Given the description of an element on the screen output the (x, y) to click on. 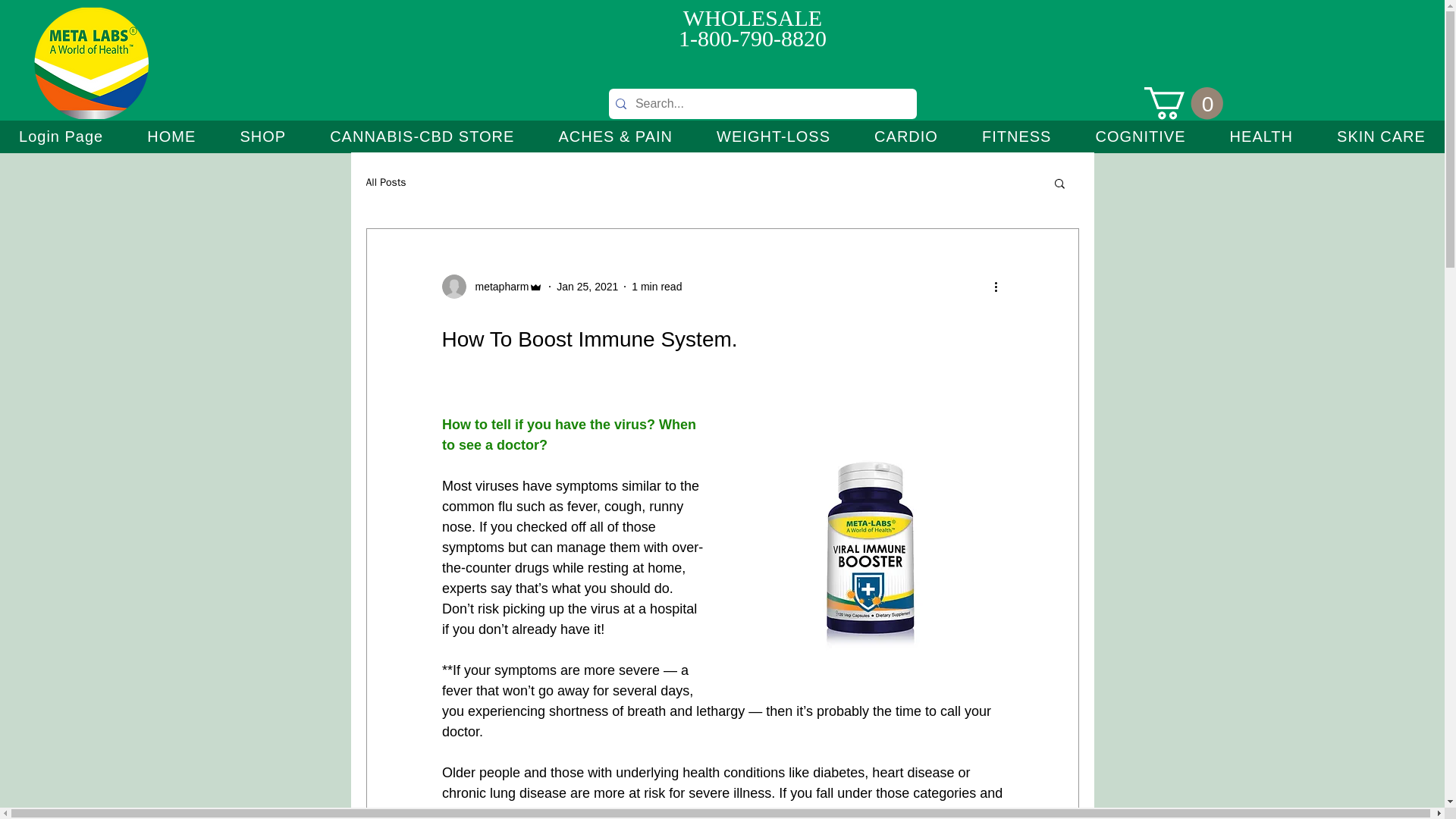
COGNITIVE (1139, 136)
WEIGHT-LOSS (772, 136)
Login Page (61, 136)
SKIN CARE (1380, 136)
CARDIO (906, 136)
CANNABIS-CBD STORE (421, 136)
FITNESS (1016, 136)
Jan 25, 2021 (586, 286)
0 (1182, 102)
metapharm (492, 286)
